Given the description of an element on the screen output the (x, y) to click on. 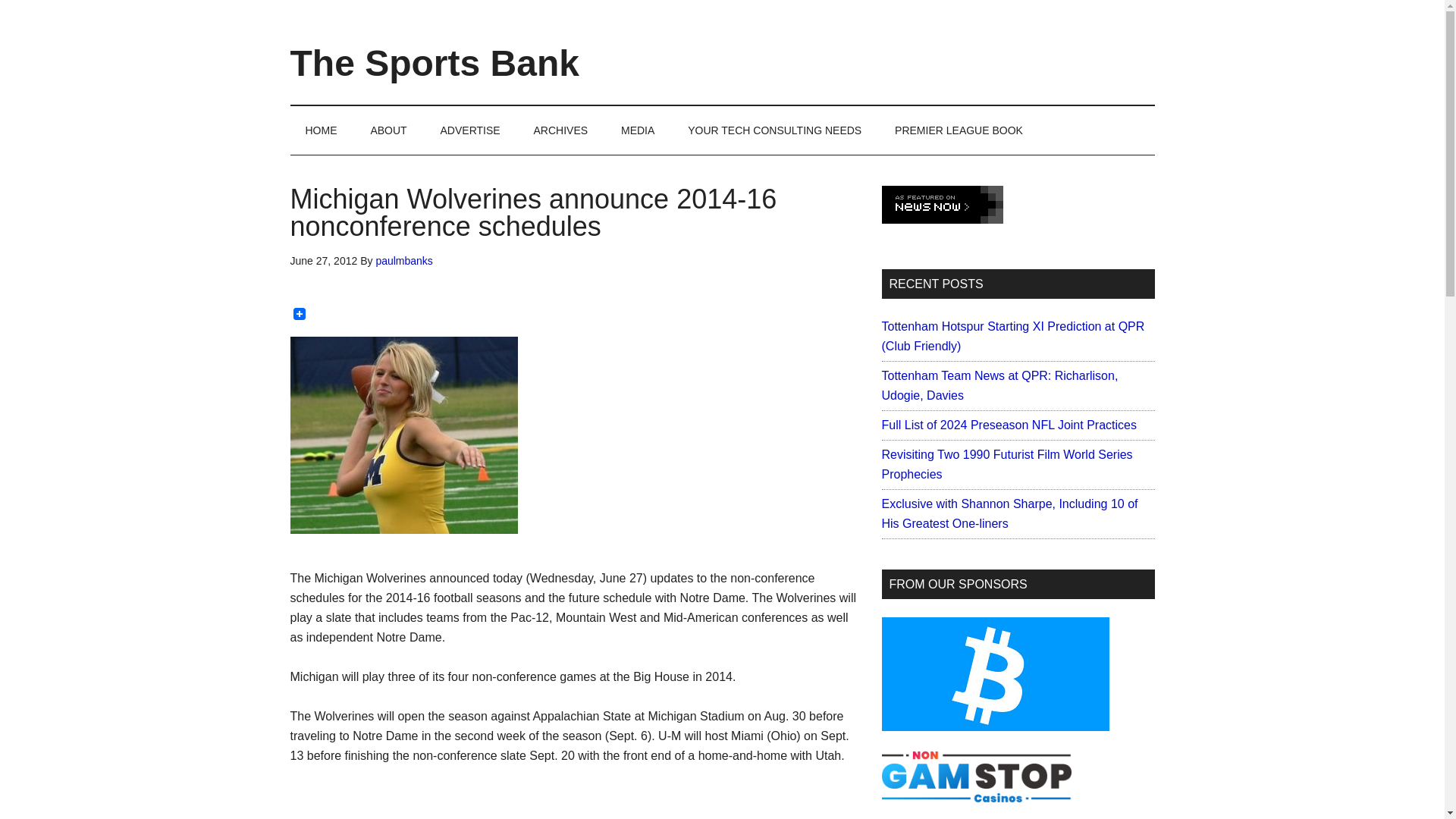
ARCHIVES (561, 130)
The Sports Bank (433, 63)
YOUR TECH CONSULTING NEEDS (774, 130)
Michigan-girls (402, 434)
paulmbanks (403, 260)
MEDIA (637, 130)
ABOUT (388, 130)
PREMIER LEAGUE BOOK (958, 130)
ADVERTISE (470, 130)
HOME (320, 130)
